Given the description of an element on the screen output the (x, y) to click on. 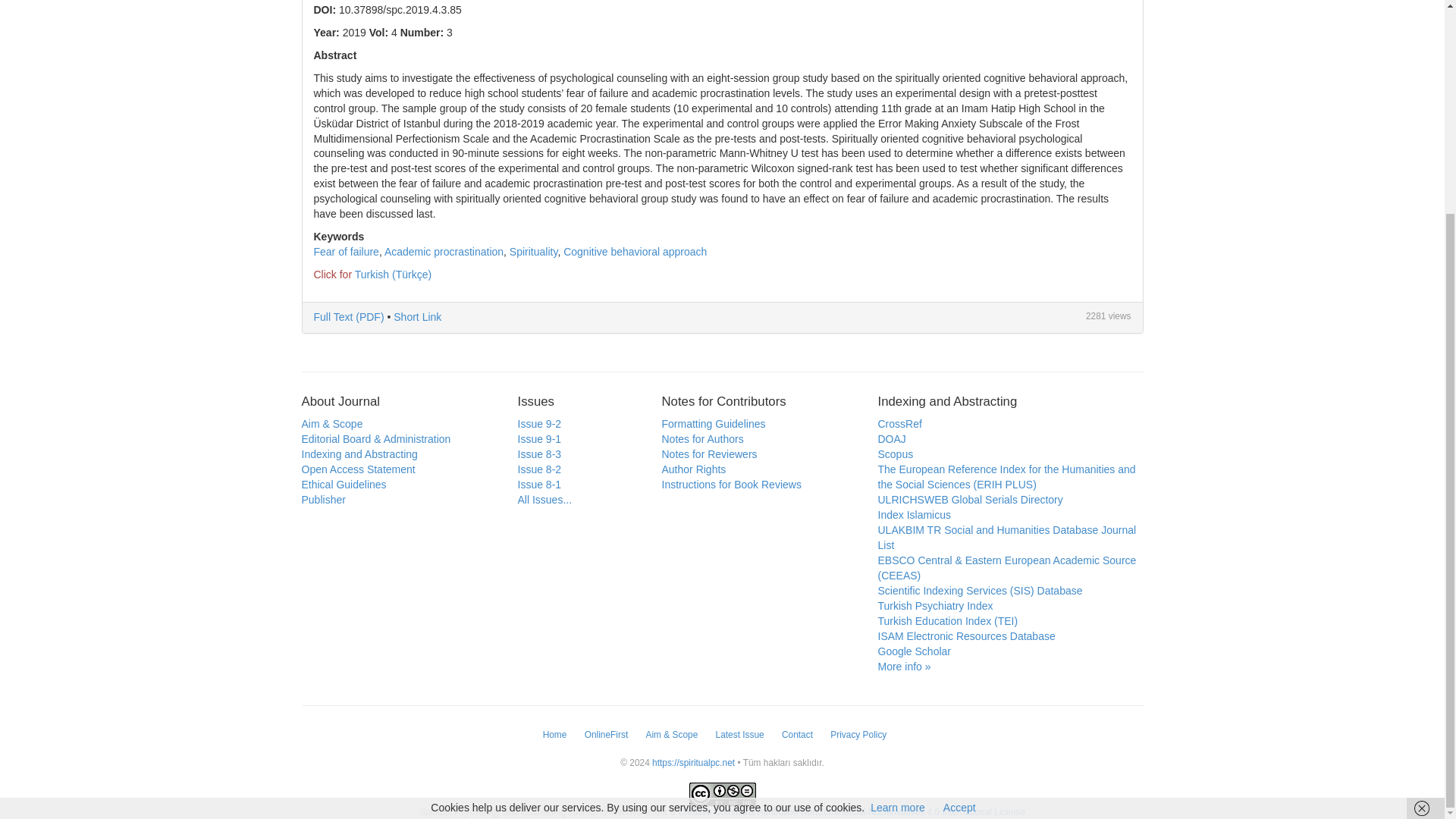
Fear of failure (346, 251)
Short Link (417, 316)
Spirituality (533, 251)
Indexing and Abstracting (359, 453)
Open Access Statement (357, 469)
Cognitive behavioral approach (634, 251)
Academic procrastination (443, 251)
